Given the description of an element on the screen output the (x, y) to click on. 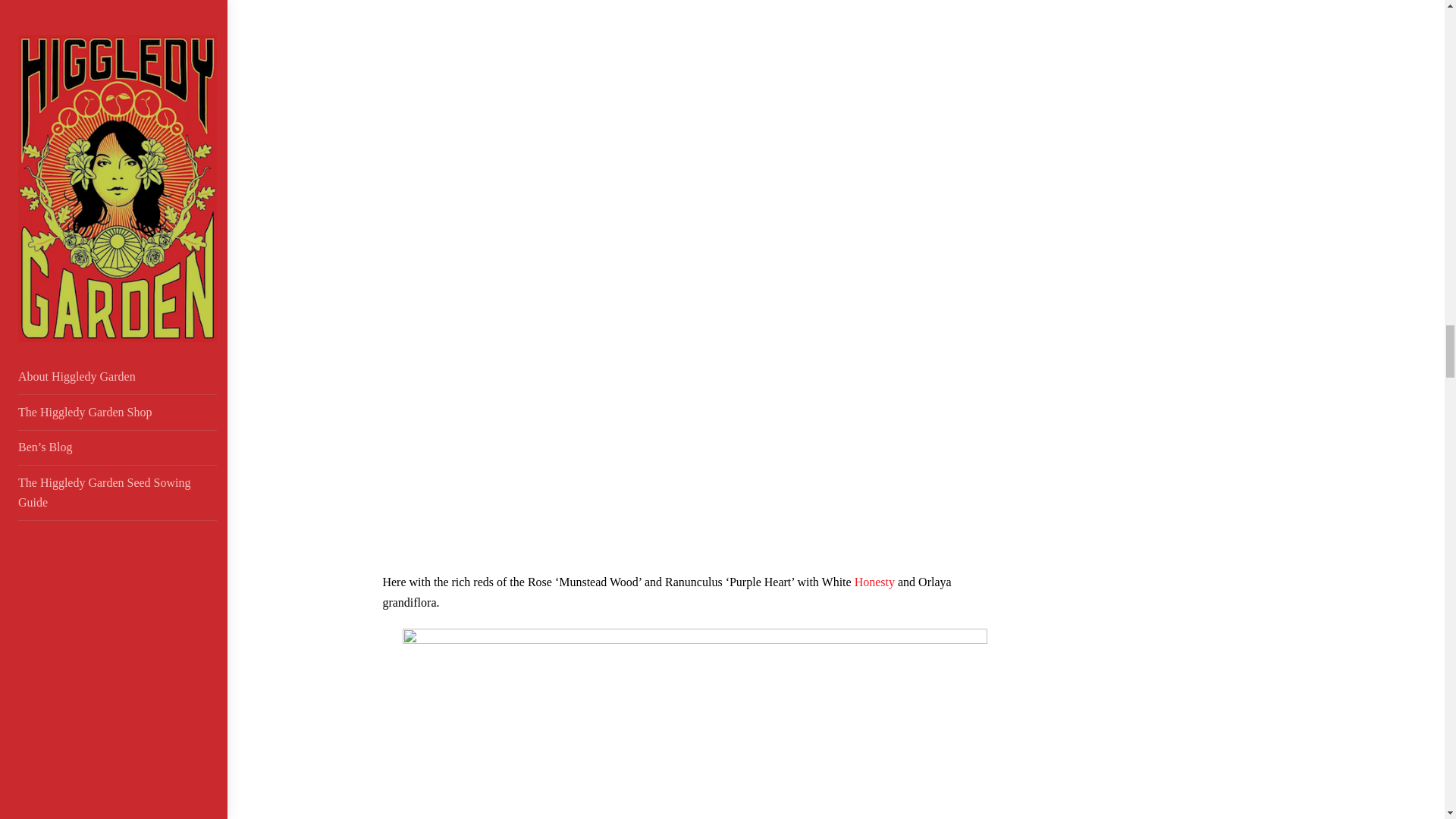
Honesty (874, 581)
